Given the description of an element on the screen output the (x, y) to click on. 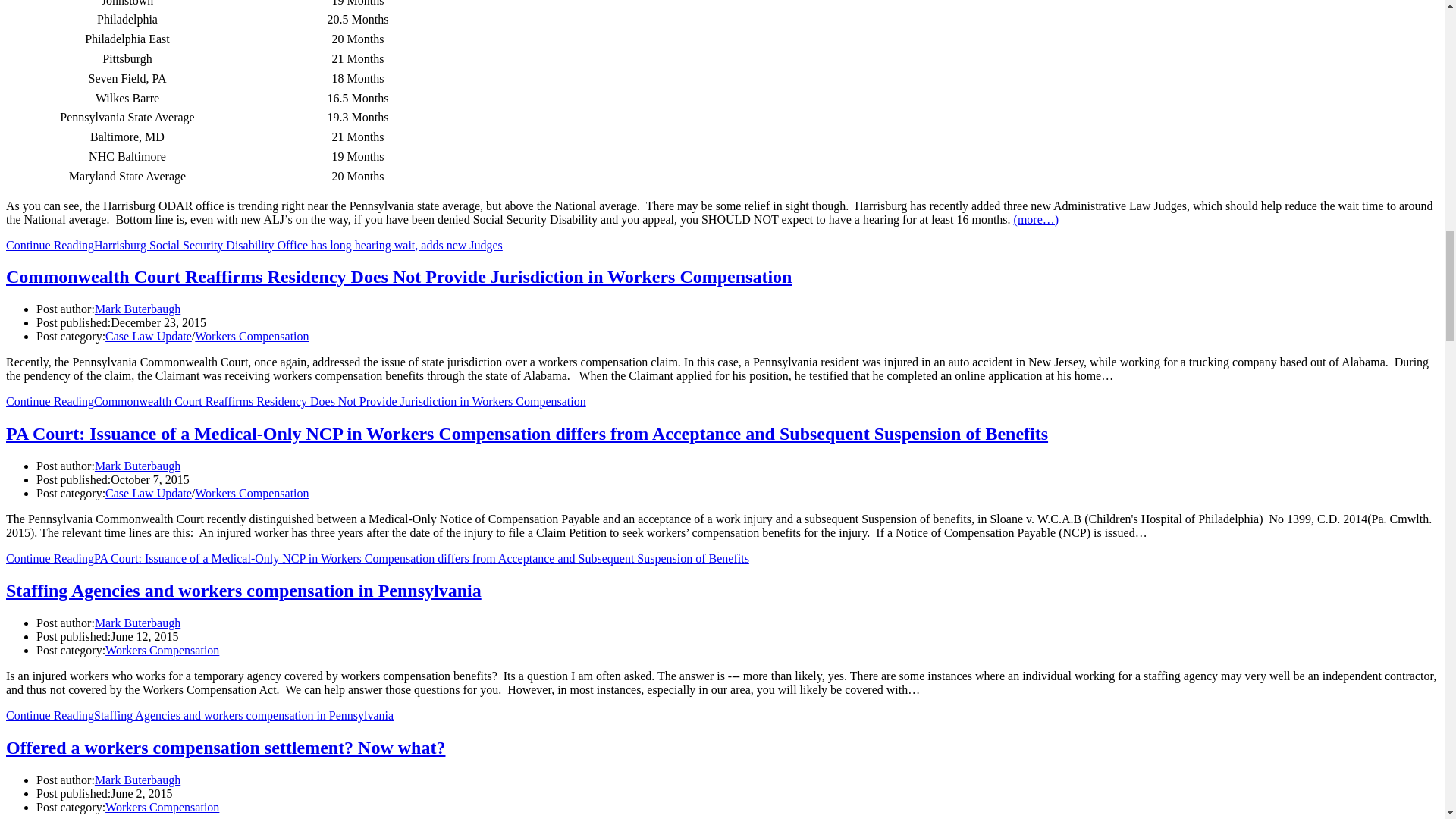
Posts by Mark Buterbaugh (137, 779)
Posts by Mark Buterbaugh (137, 465)
Posts by Mark Buterbaugh (137, 622)
Posts by Mark Buterbaugh (137, 308)
